Given the description of an element on the screen output the (x, y) to click on. 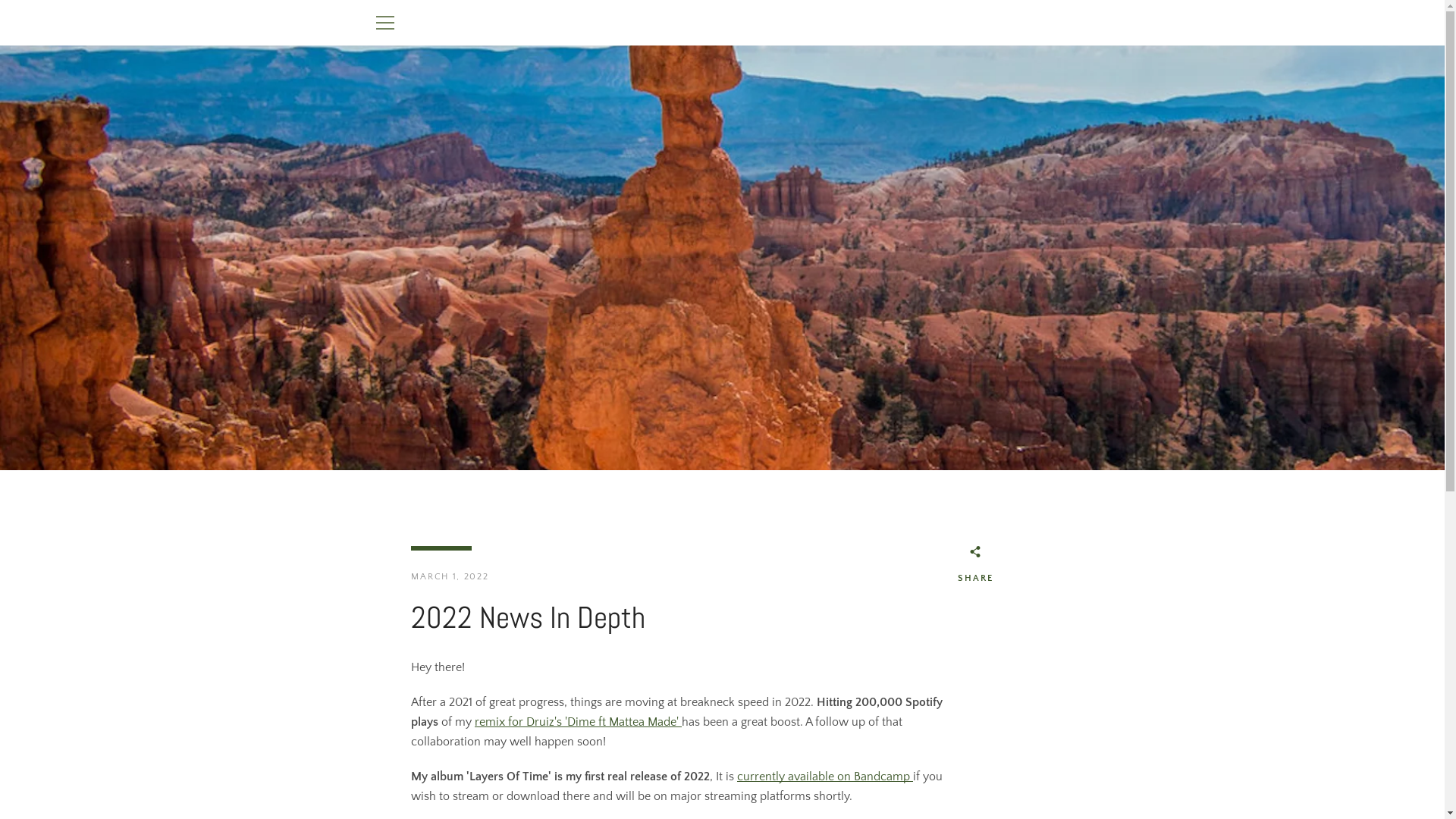
YouTube Element type: text (424, 778)
anthexmusic Element type: text (955, 779)
MENU Element type: text (384, 22)
Skip to content Element type: text (0, 0)
currently available on Bandcamp Element type: text (825, 776)
remix for Druiz's 'Dime ft Mattea Made' Element type: text (577, 721)
SHARE Element type: text (974, 567)
Powered by Shopify Element type: text (1030, 779)
Instagram Element type: text (398, 778)
SUBSCRIBE Element type: text (1034, 705)
Facebook Element type: text (372, 778)
